Given the description of an element on the screen output the (x, y) to click on. 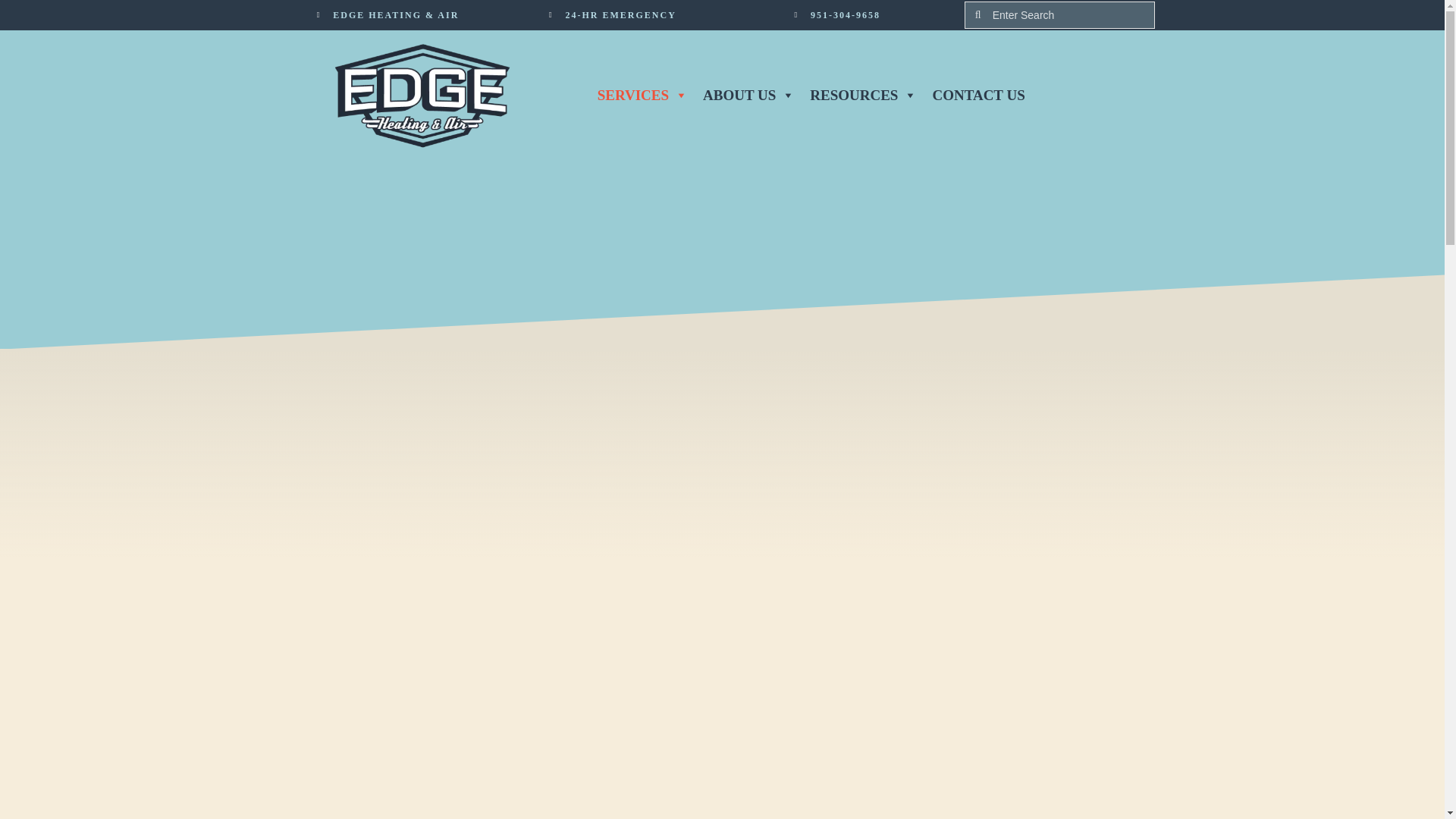
CONTACT US (978, 95)
SERVICES (642, 95)
RESOURCES (863, 95)
951-304-9658 (845, 14)
ABOUT US (748, 95)
